Given the description of an element on the screen output the (x, y) to click on. 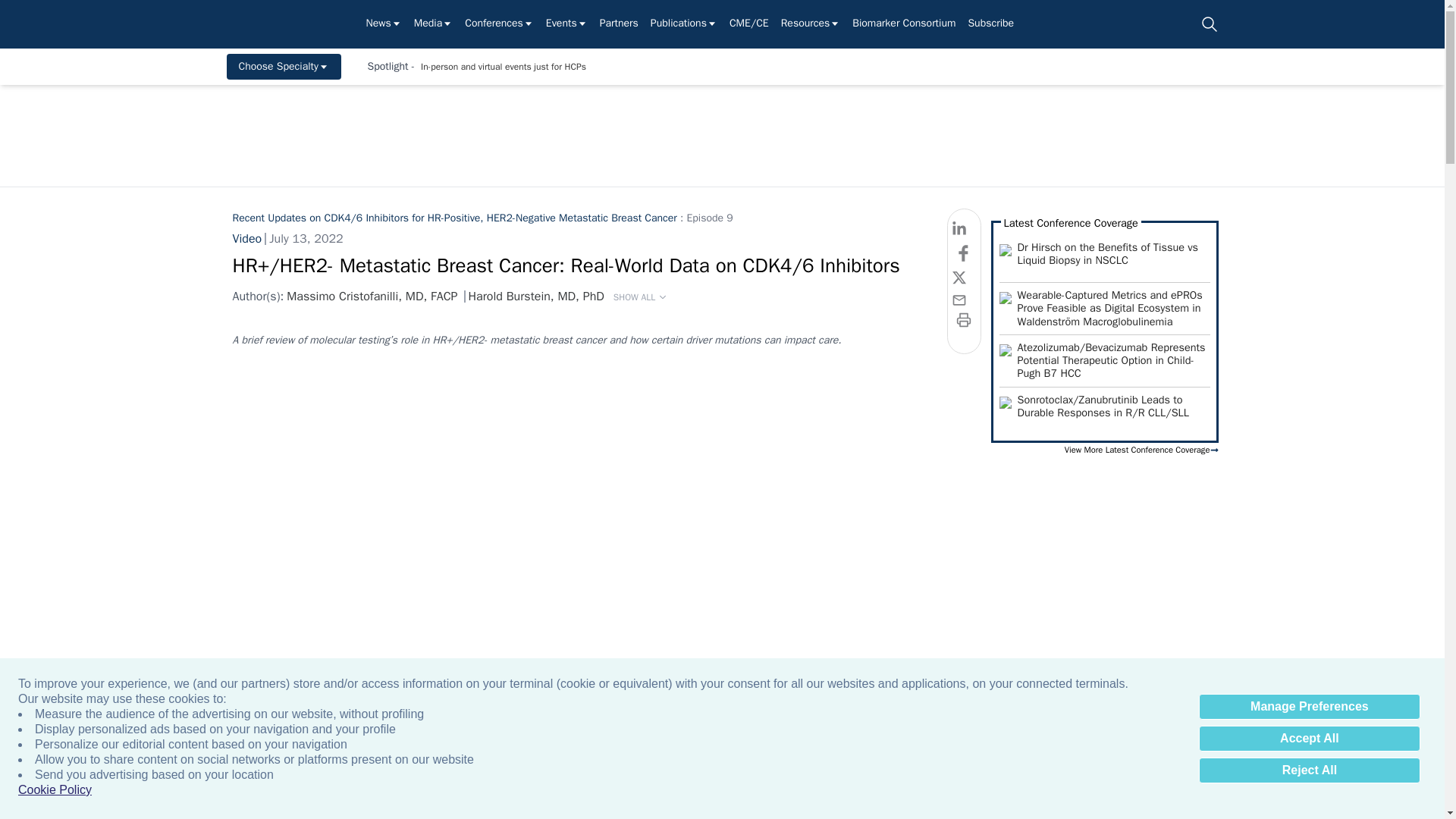
Partners (619, 23)
Cookie Policy (54, 789)
Accept All (1309, 738)
Resources (810, 23)
Reject All (1309, 769)
News (383, 23)
Manage Preferences (1309, 706)
Conferences (499, 23)
Media (432, 23)
Publications (683, 23)
